Given the description of an element on the screen output the (x, y) to click on. 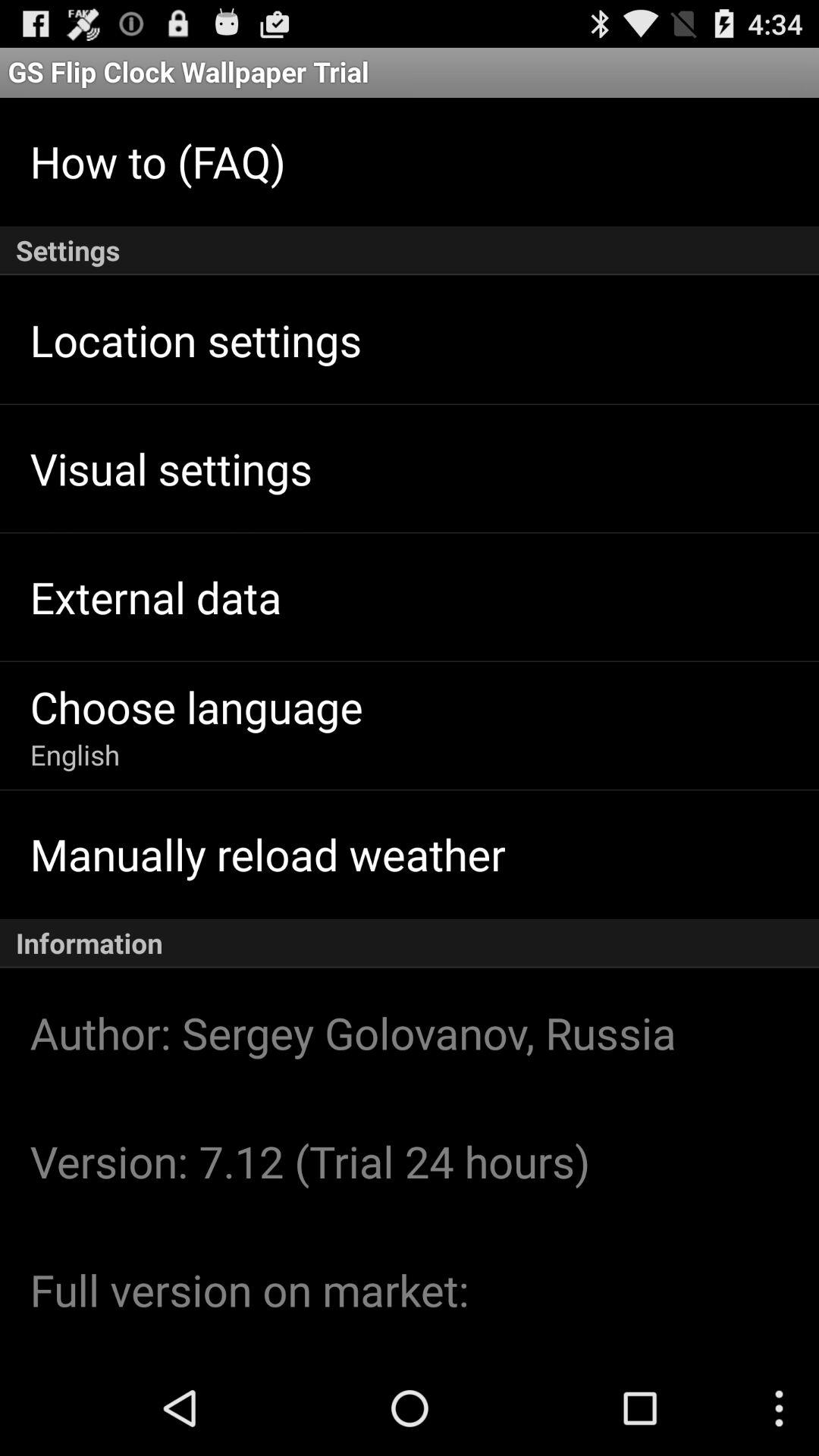
tap app above the manually reload weather (75, 754)
